Given the description of an element on the screen output the (x, y) to click on. 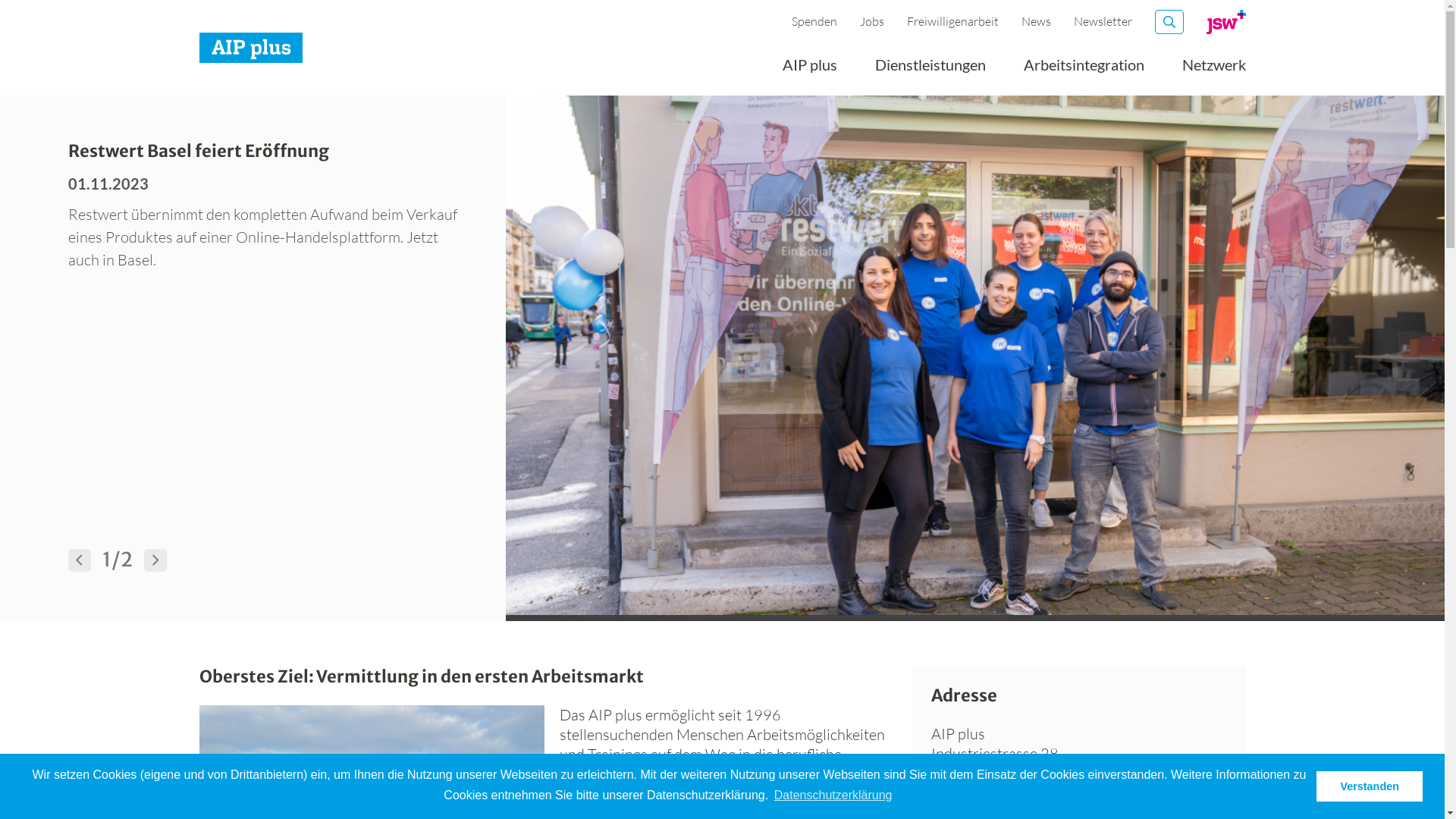
Newsletter Element type: text (1102, 20)
Dienstleistungen Element type: text (930, 69)
Freiwilligenarbeit Element type: text (952, 20)
AIP plus Element type: text (809, 69)
Jobs Element type: text (871, 20)
Arbeitsintegration Element type: text (1083, 69)
Verstanden Element type: text (1369, 786)
Netzwerk Element type: text (1213, 69)
Spenden Element type: text (814, 20)
News Element type: text (1036, 20)
